Given the description of an element on the screen output the (x, y) to click on. 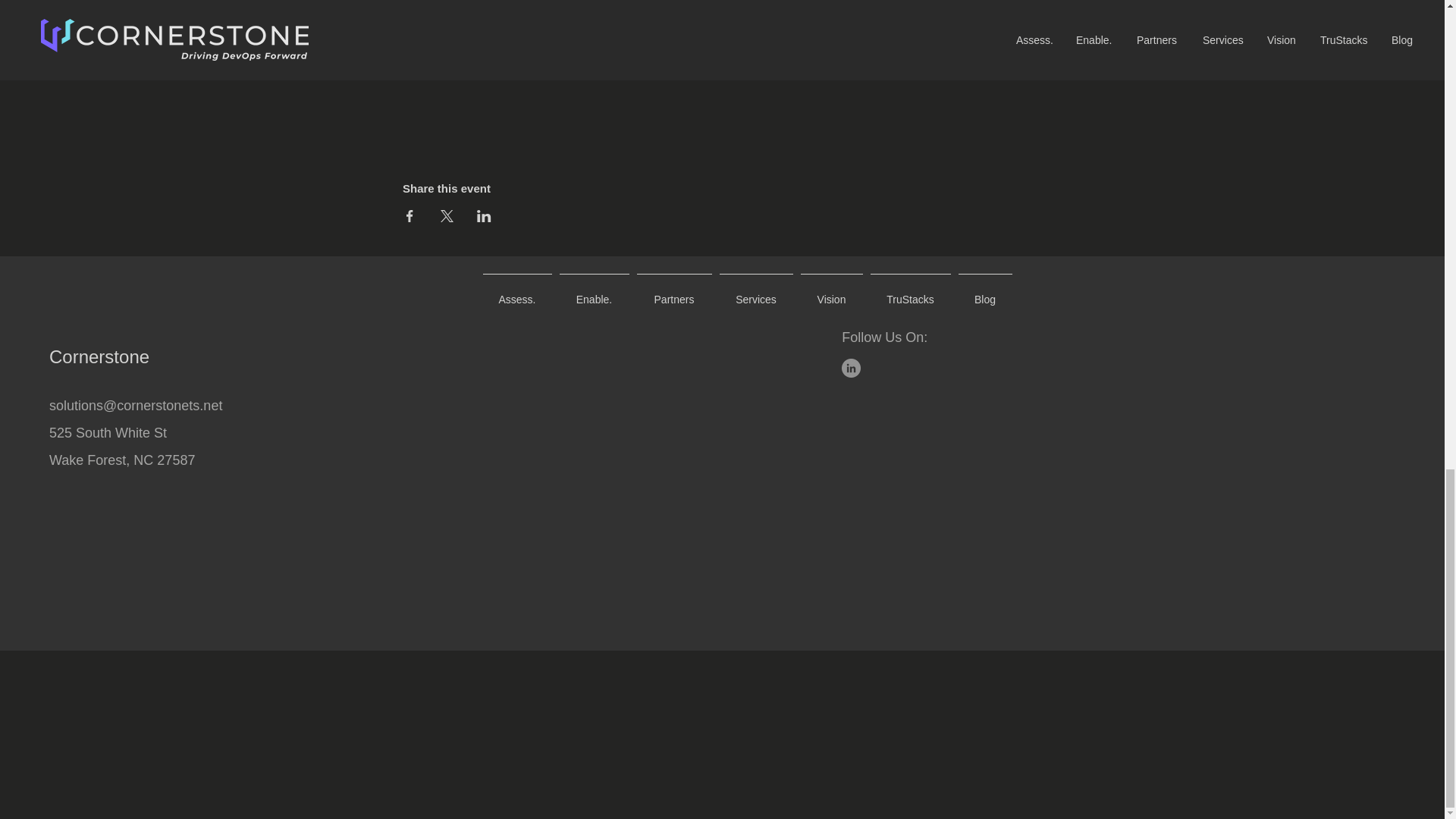
Enable. (592, 292)
Cornerstone (99, 356)
TruStacks (909, 292)
Blog (983, 292)
Map (721, 67)
Vision (831, 292)
Services (756, 292)
Assess. (517, 292)
